Given the description of an element on the screen output the (x, y) to click on. 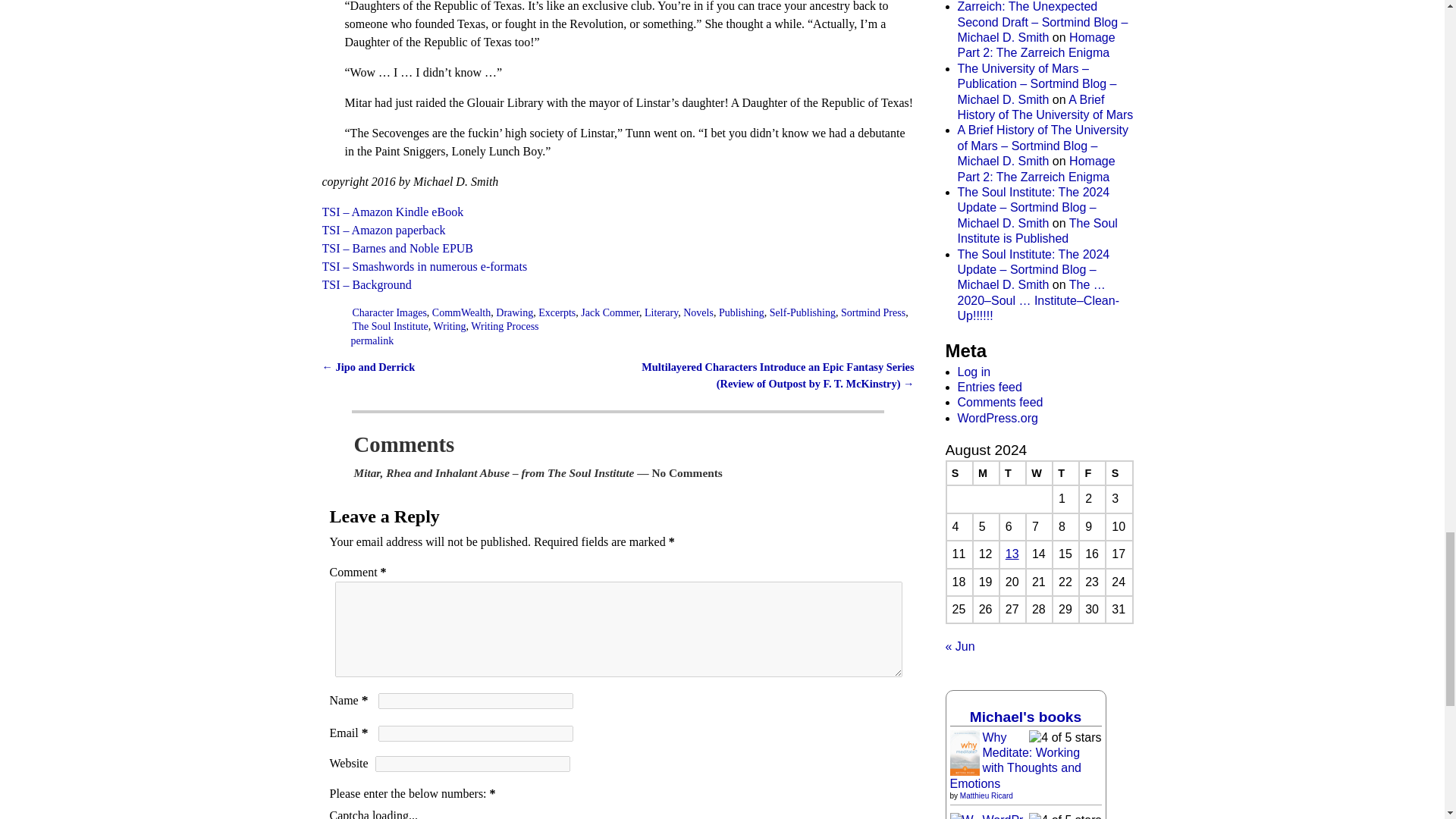
Self-Publishing (802, 312)
Publishing (741, 312)
Sortmind Press (873, 312)
Drawing (514, 312)
Literary (661, 312)
Jack Commer (609, 312)
CommWealth (461, 312)
Excerpts (556, 312)
Character Images (389, 312)
Novels (697, 312)
